Given the description of an element on the screen output the (x, y) to click on. 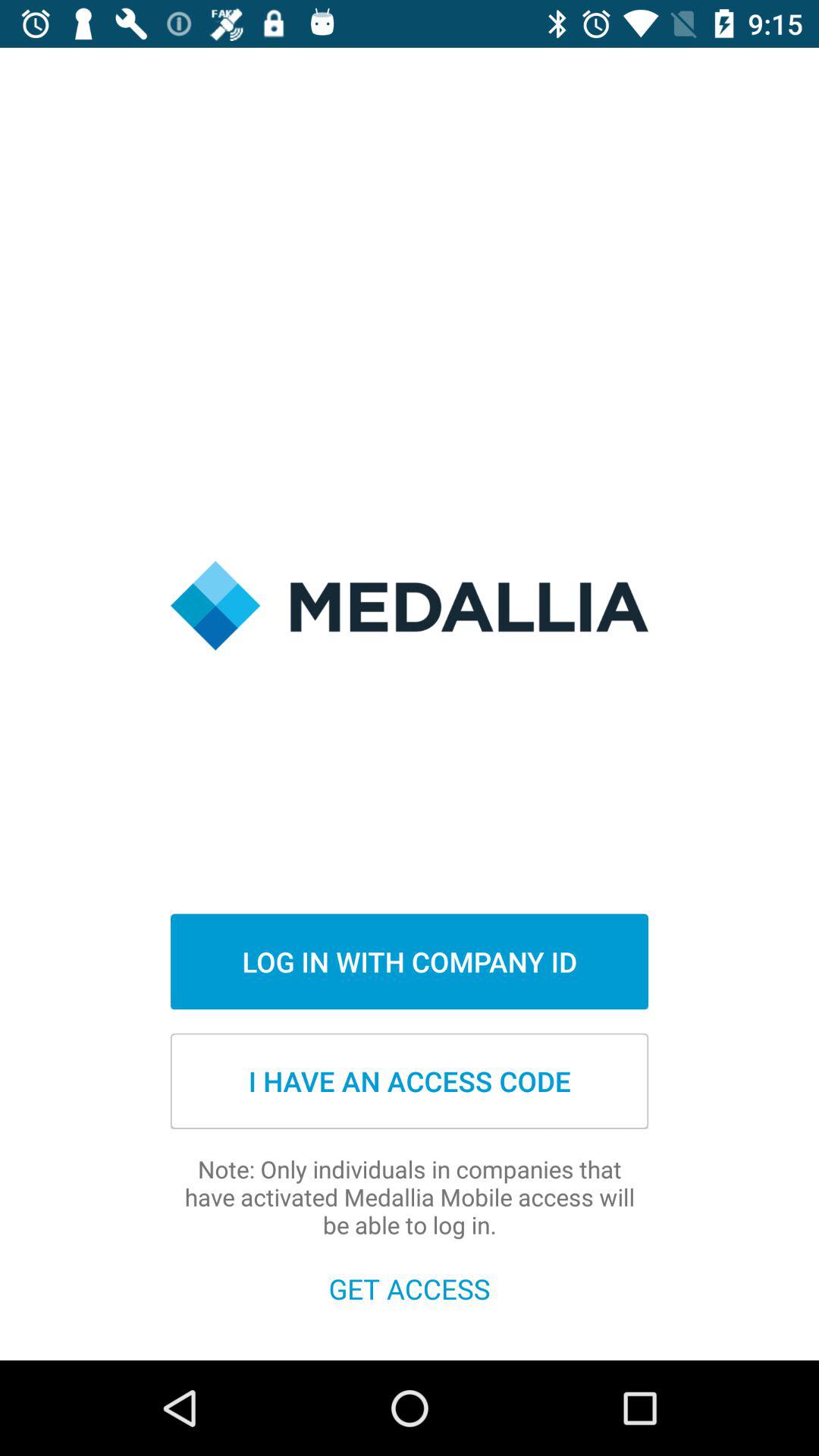
click app below note only individuals item (409, 1288)
